Given the description of an element on the screen output the (x, y) to click on. 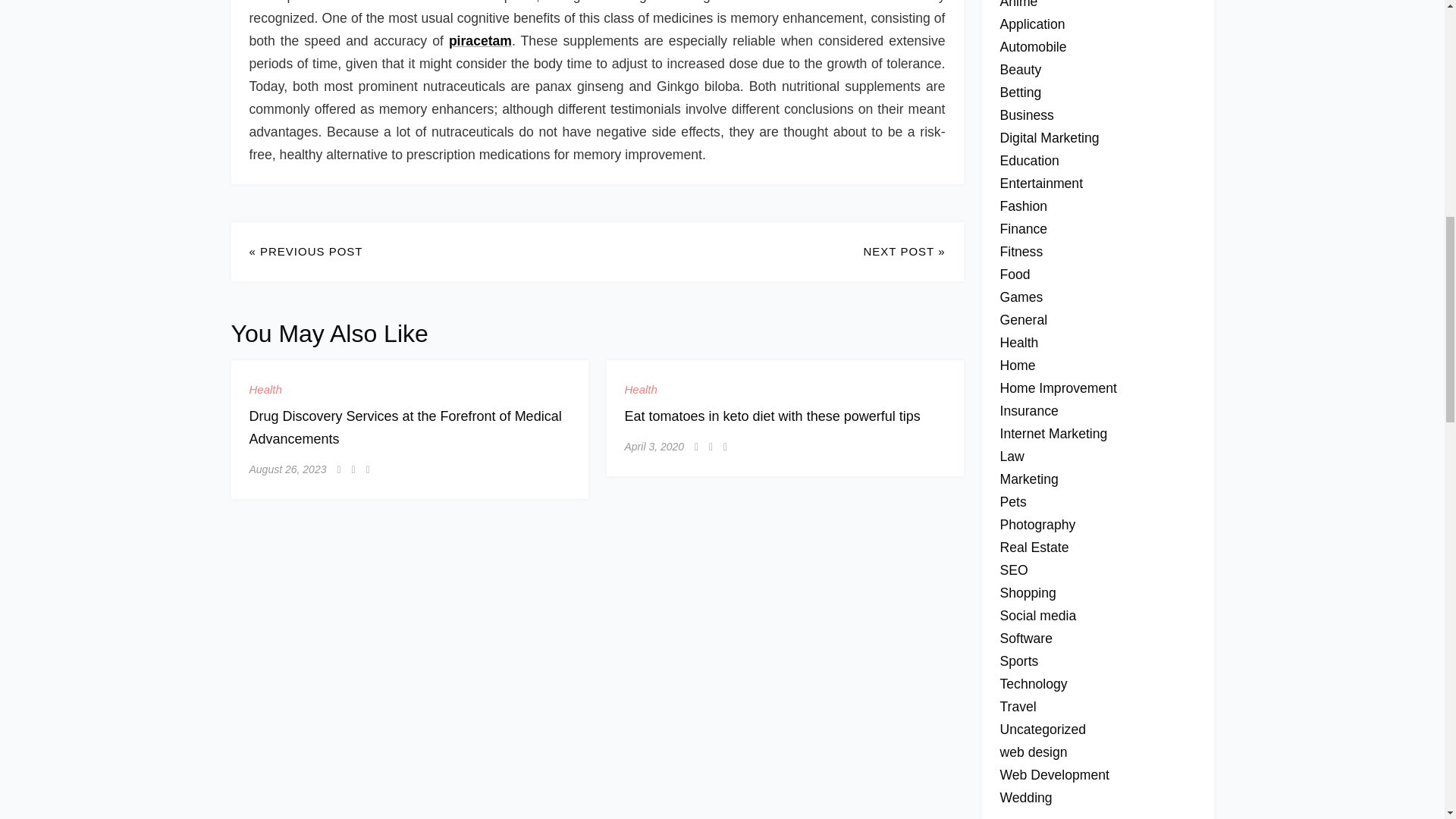
piracetam (480, 40)
August 26, 2023 (287, 469)
Application (1031, 23)
April 3, 2020 (654, 446)
Automobile (1031, 46)
Beauty (1019, 69)
Health (264, 389)
Anime (1017, 4)
Eat tomatoes in keto diet with these powerful tips (772, 416)
Health (641, 389)
